Given the description of an element on the screen output the (x, y) to click on. 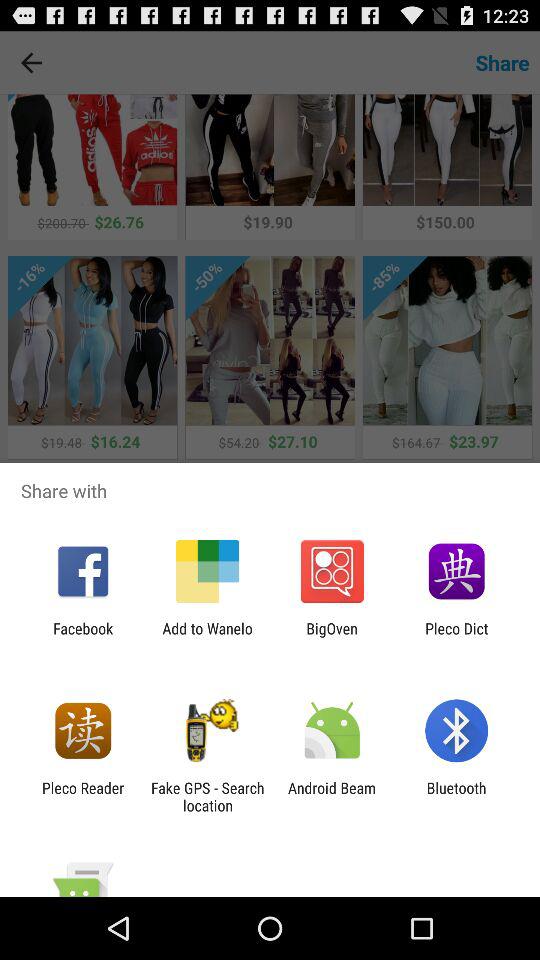
select app to the right of fake gps search item (332, 796)
